Given the description of an element on the screen output the (x, y) to click on. 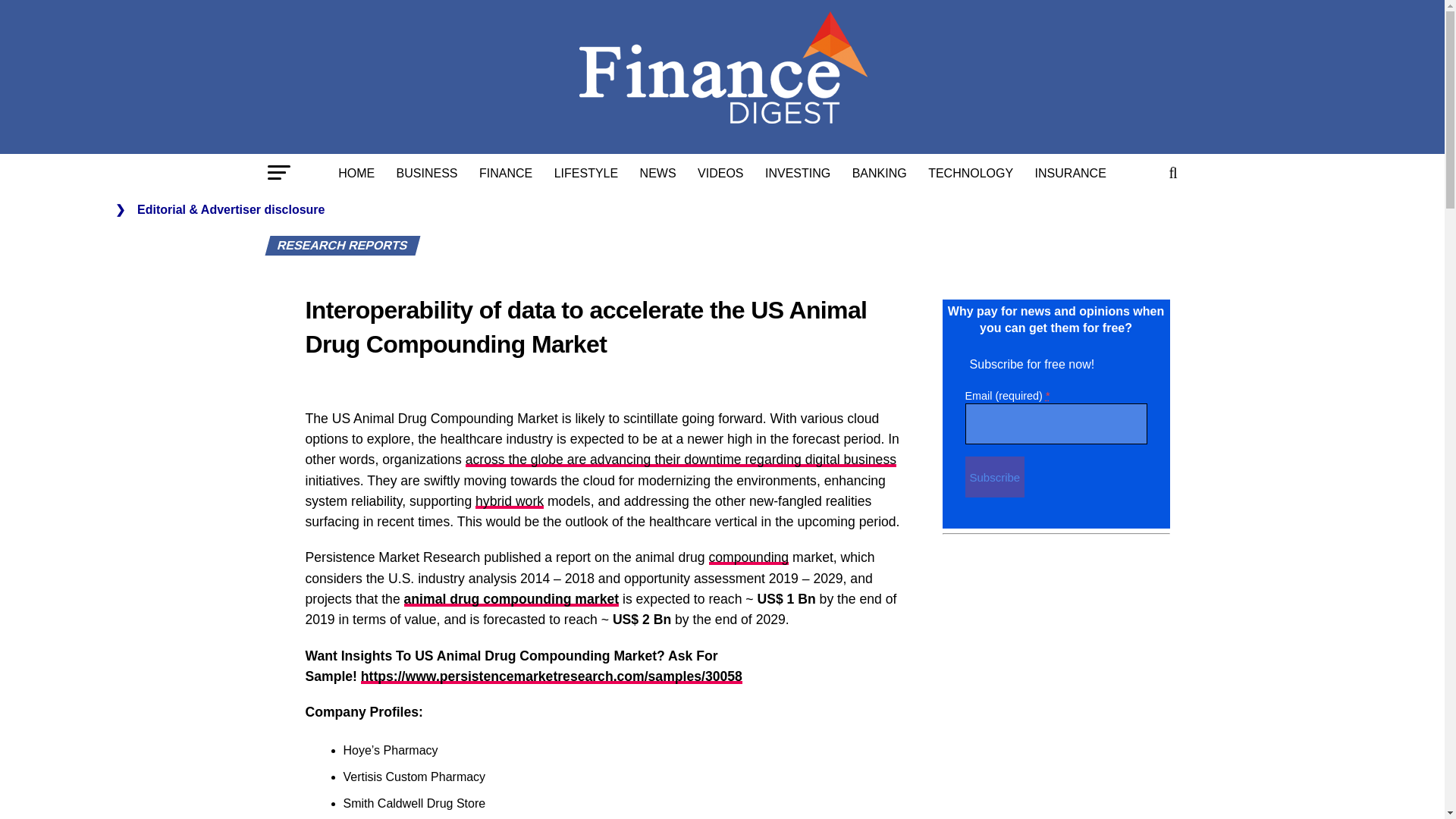
Subscribe (994, 476)
VIDEOS (720, 173)
BUSINESS (427, 173)
News (657, 173)
Lifestyle (585, 173)
LIFESTYLE (585, 173)
Home (356, 173)
NEWS (657, 173)
Business (427, 173)
HOME (356, 173)
